Given the description of an element on the screen output the (x, y) to click on. 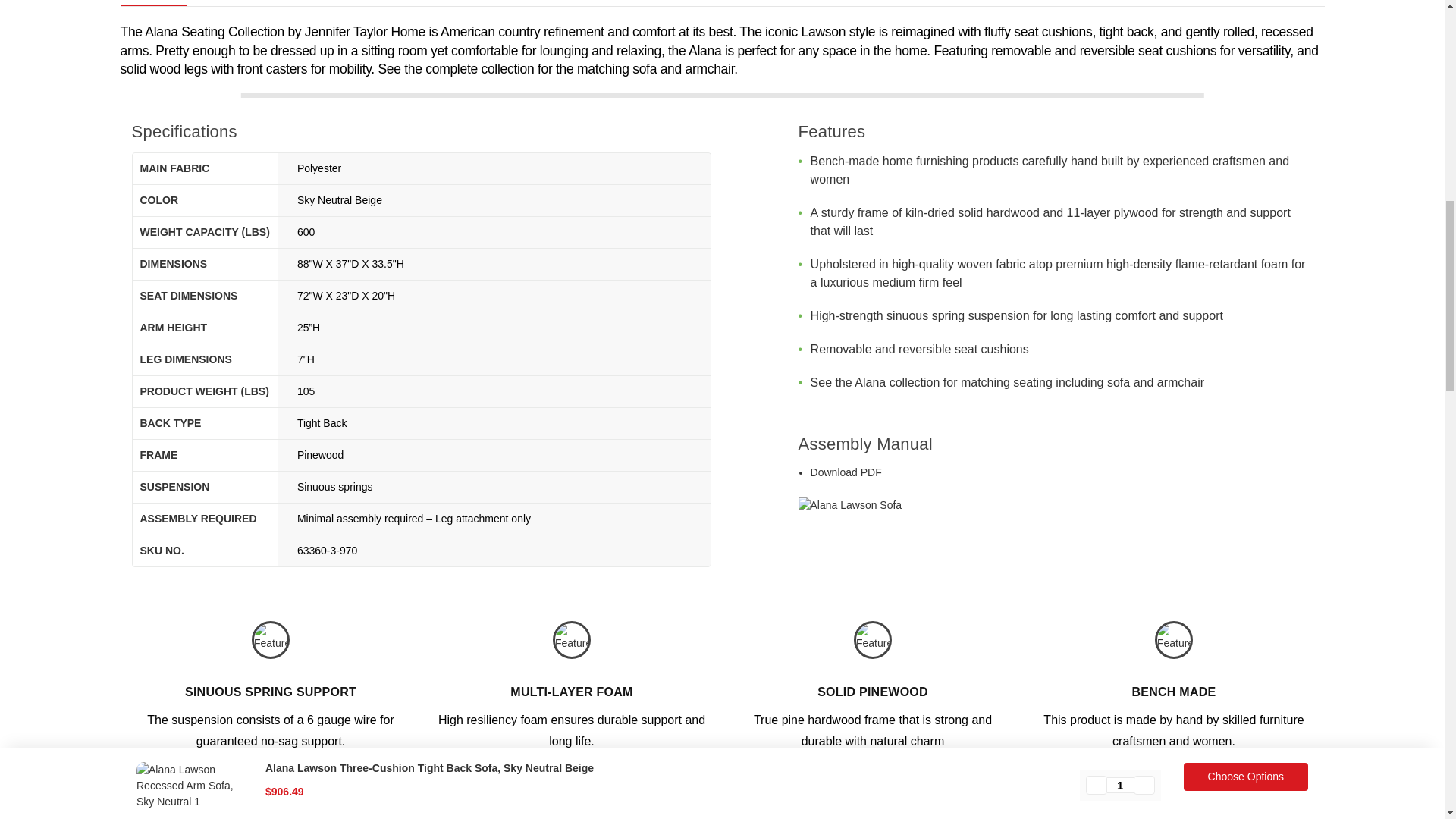
Alana Lawson Sofa (849, 505)
Features Icon (572, 639)
Features Icon (270, 639)
